Given the description of an element on the screen output the (x, y) to click on. 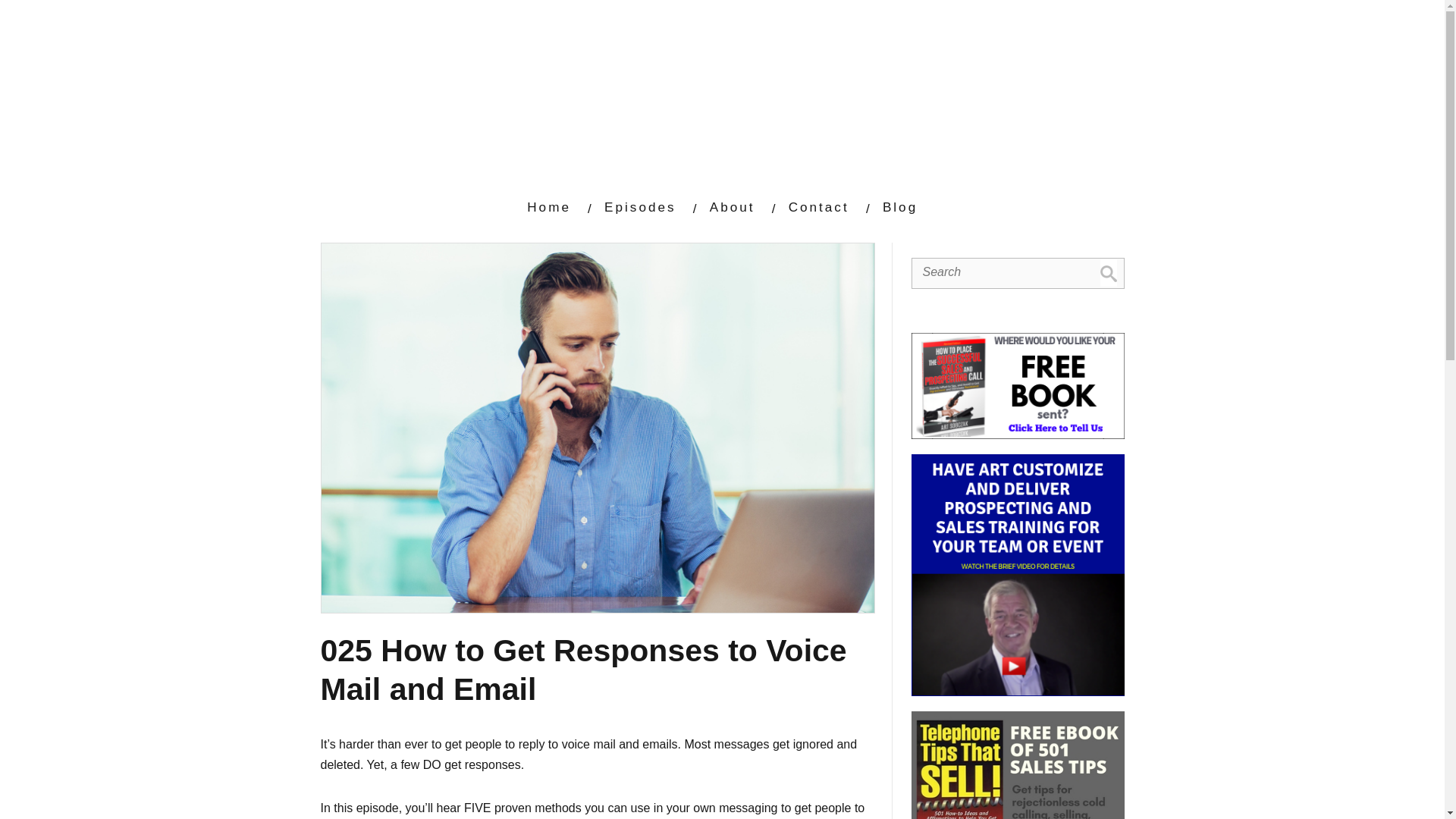
Blog (899, 207)
About (732, 207)
Contact (818, 207)
Episodes (639, 207)
Home (548, 207)
